Given the description of an element on the screen output the (x, y) to click on. 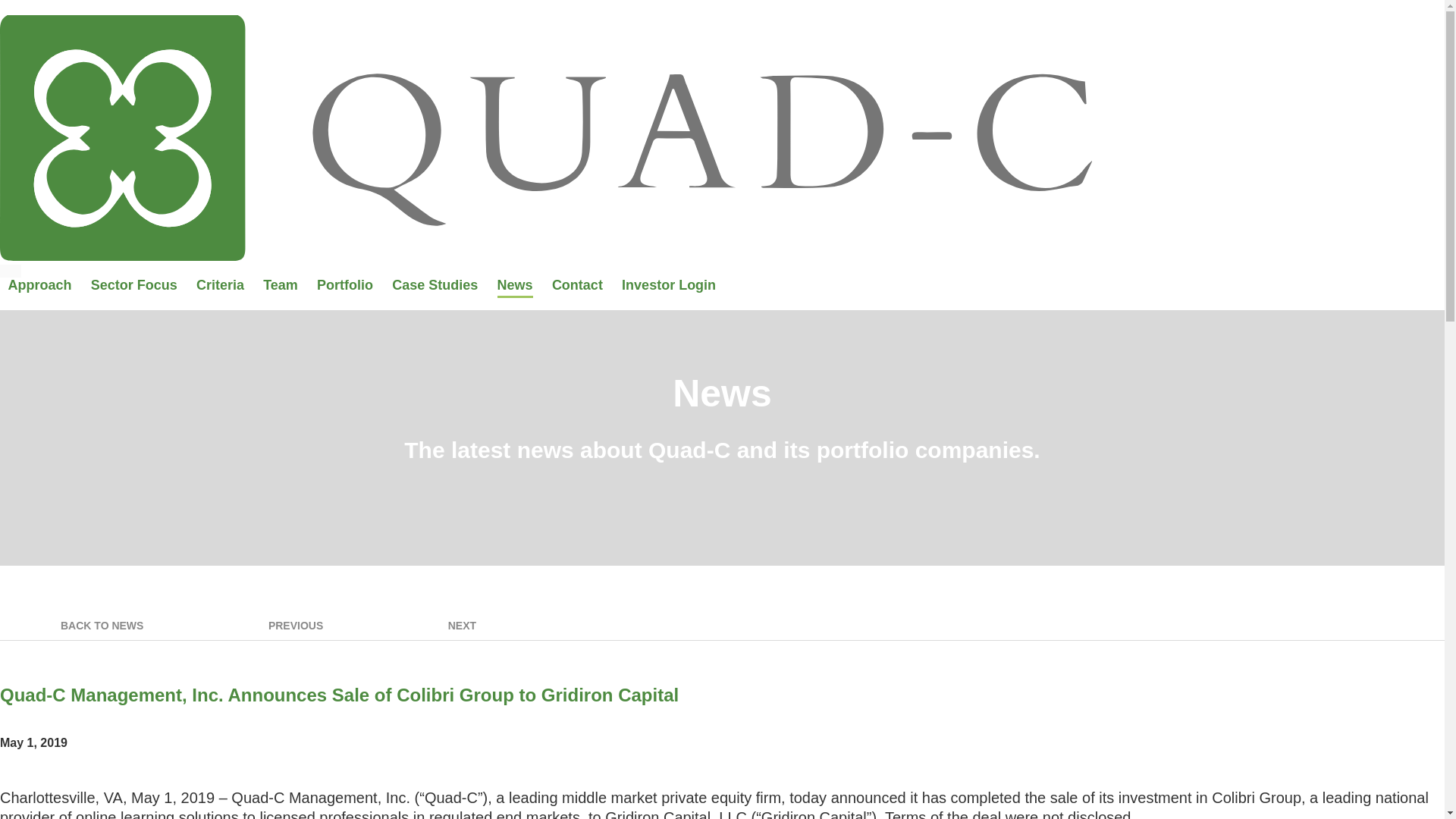
Investor Login (668, 286)
Case Studies (434, 286)
NEXT (462, 625)
Sector Focus (133, 286)
Team (280, 286)
PREVIOUS (295, 625)
News (514, 286)
BACK TO NEWS (101, 625)
Criteria (220, 286)
Contact (576, 286)
